Given the description of an element on the screen output the (x, y) to click on. 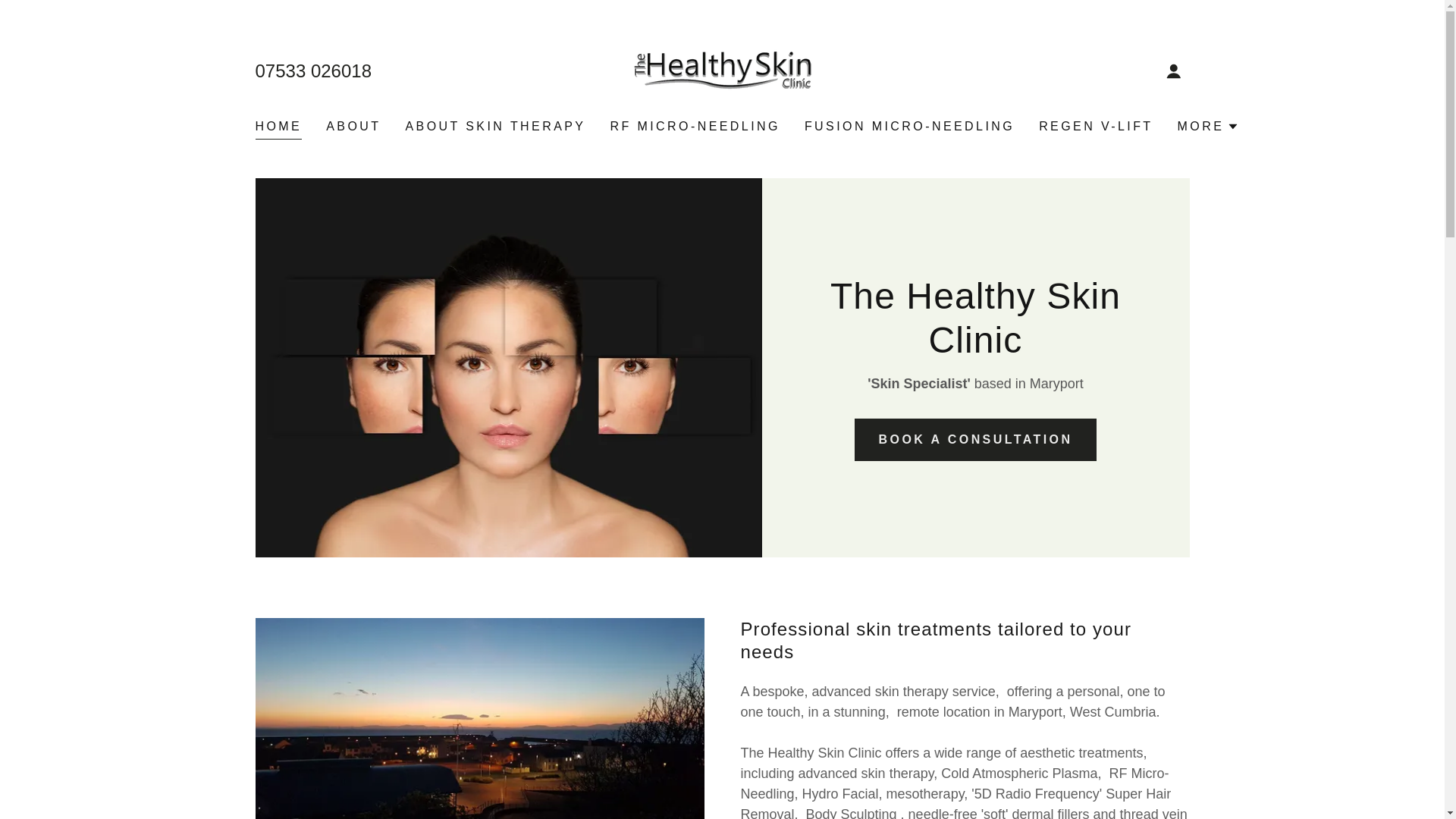
RF MICRO-NEEDLING (694, 126)
REGEN V-LIFT (1095, 126)
07533 026018 (312, 70)
The Healthy Skin Clinic (721, 69)
MORE (1208, 126)
ABOUT SKIN THERAPY (494, 126)
HOME (277, 128)
ABOUT (353, 126)
FUSION MICRO-NEEDLING (909, 126)
